Given the description of an element on the screen output the (x, y) to click on. 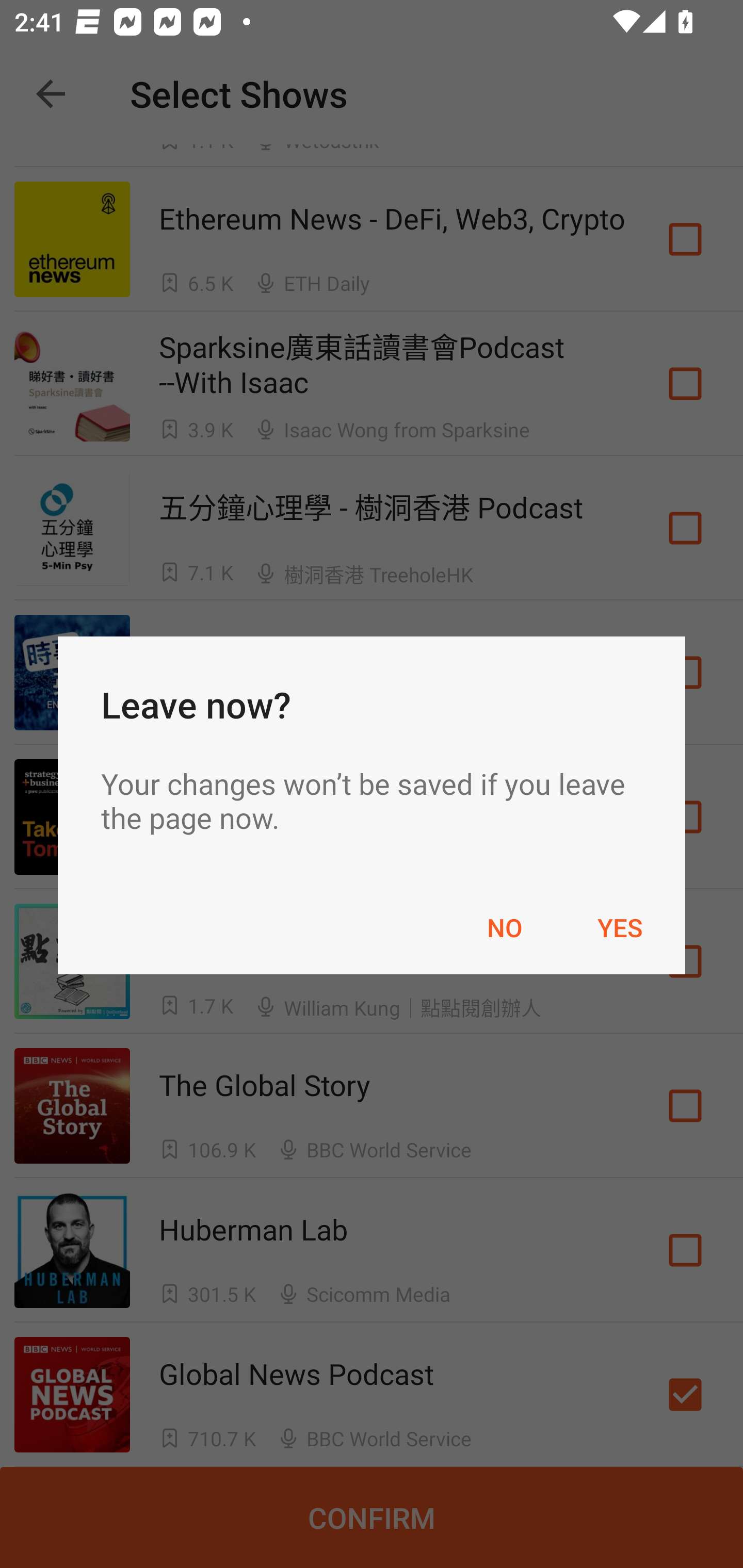
NO (504, 927)
YES (619, 927)
